Given the description of an element on the screen output the (x, y) to click on. 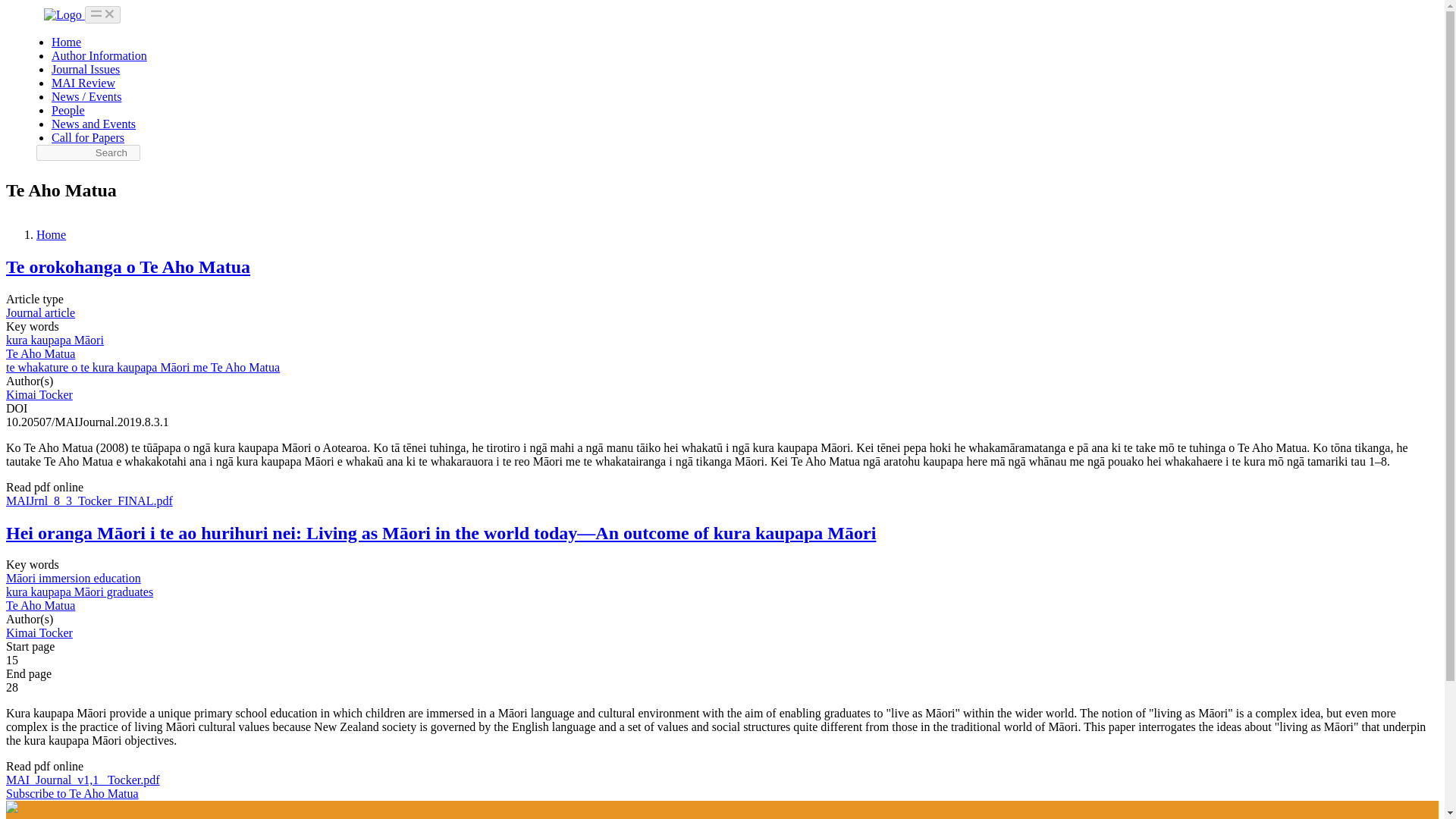
Te orokohanga o Te Aho Matua (127, 266)
Te Aho Matua (40, 353)
Journal Issues (84, 69)
Home (65, 42)
Te Aho Matua (40, 604)
Home (50, 234)
Enter the terms you wish to search for. (87, 152)
Journal article (40, 312)
Kimai Tocker (38, 632)
MAI Review (82, 82)
Author Information (98, 55)
Subscribe to Te Aho Matua (71, 793)
People (67, 110)
Kimai Tocker (38, 394)
